Given the description of an element on the screen output the (x, y) to click on. 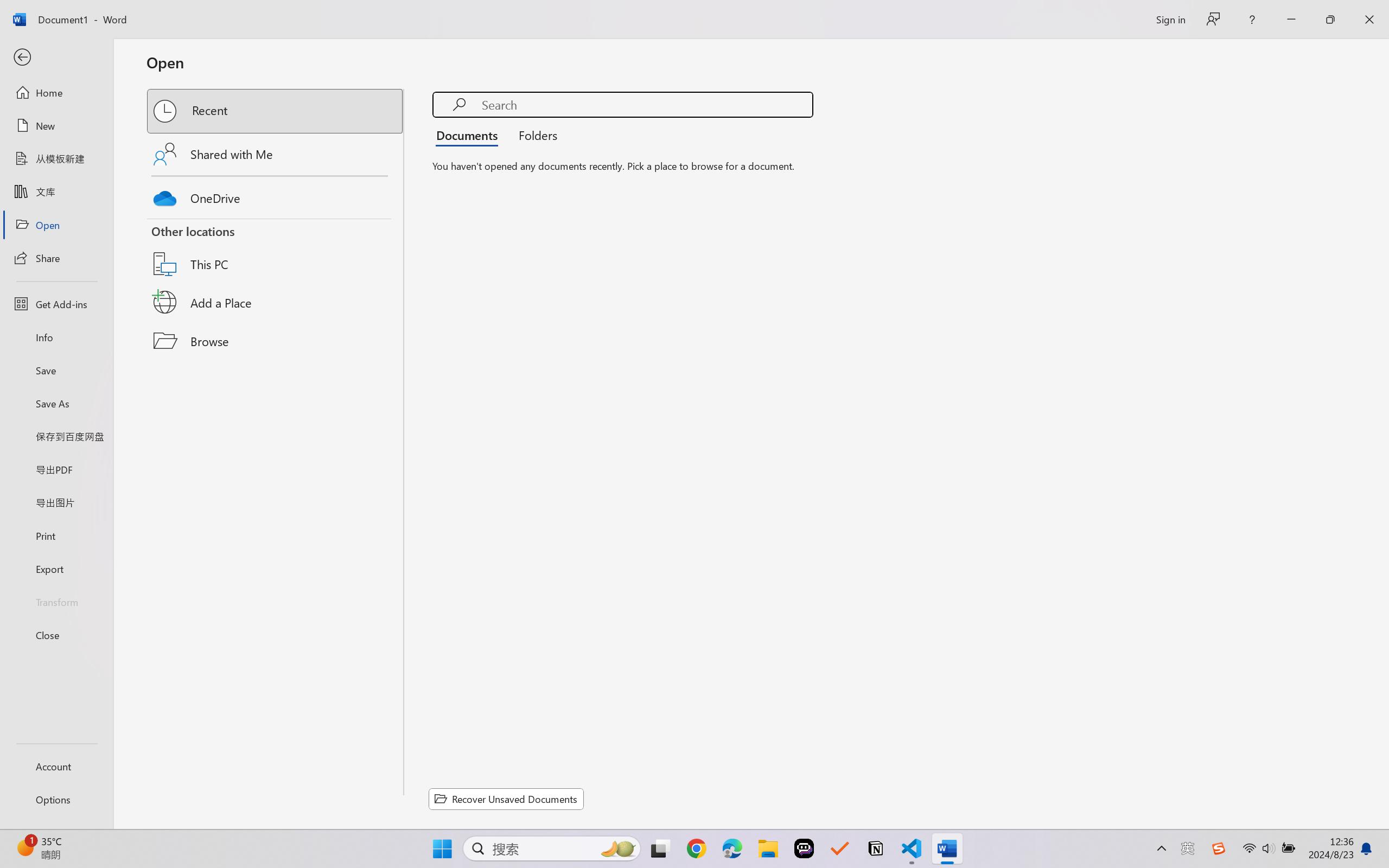
Transform (56, 601)
Export (56, 568)
Account (56, 765)
Documents (469, 134)
Recent (275, 110)
Options (56, 798)
